Given the description of an element on the screen output the (x, y) to click on. 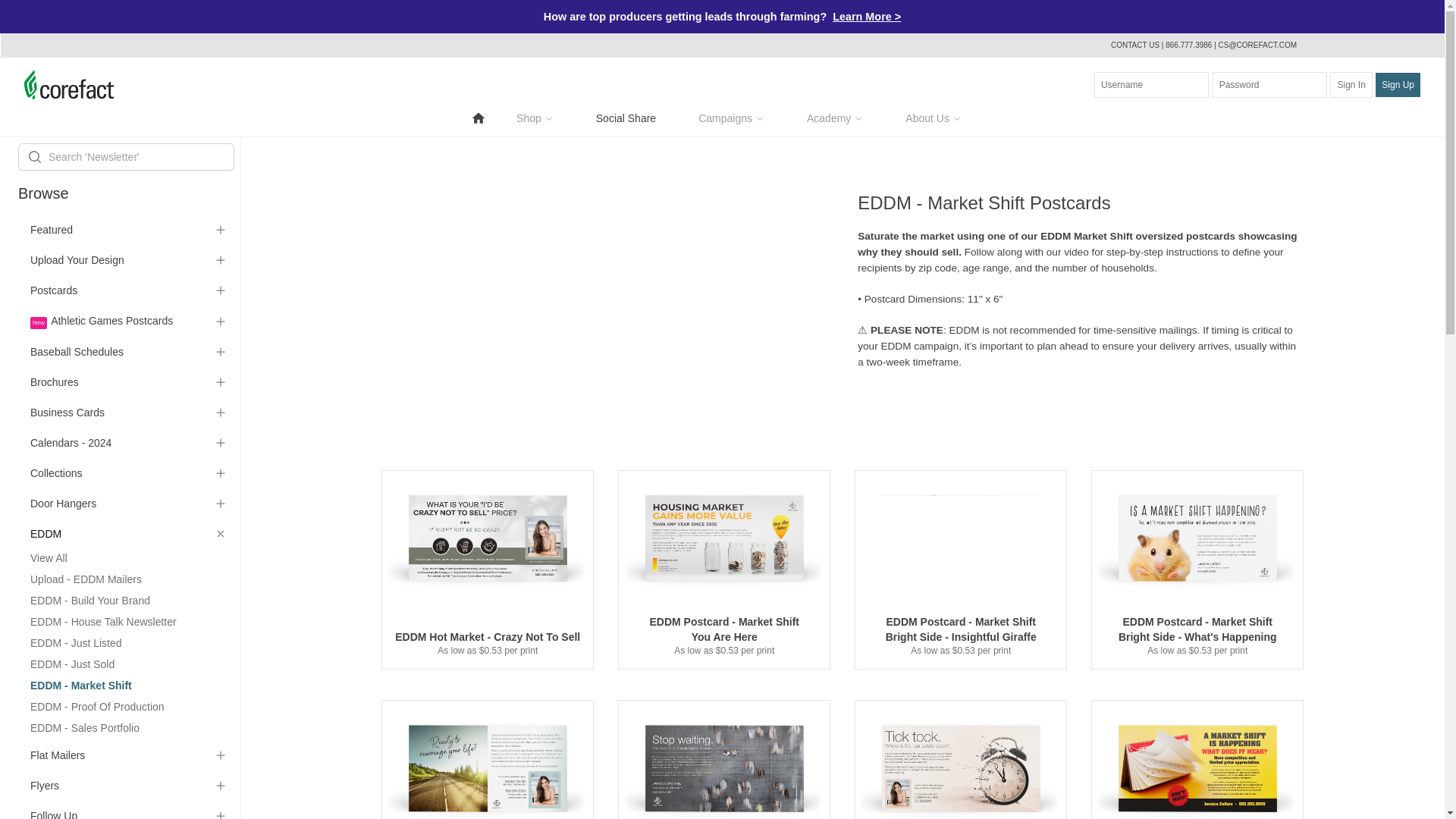
Home (478, 118)
Email us (1257, 44)
Shop (534, 118)
Contact Form (1134, 44)
Corefact (68, 84)
866.777.3986 (1190, 44)
Home (478, 117)
Sign Up (1398, 84)
CONTACT US (1134, 44)
Call us (1190, 44)
